Given the description of an element on the screen output the (x, y) to click on. 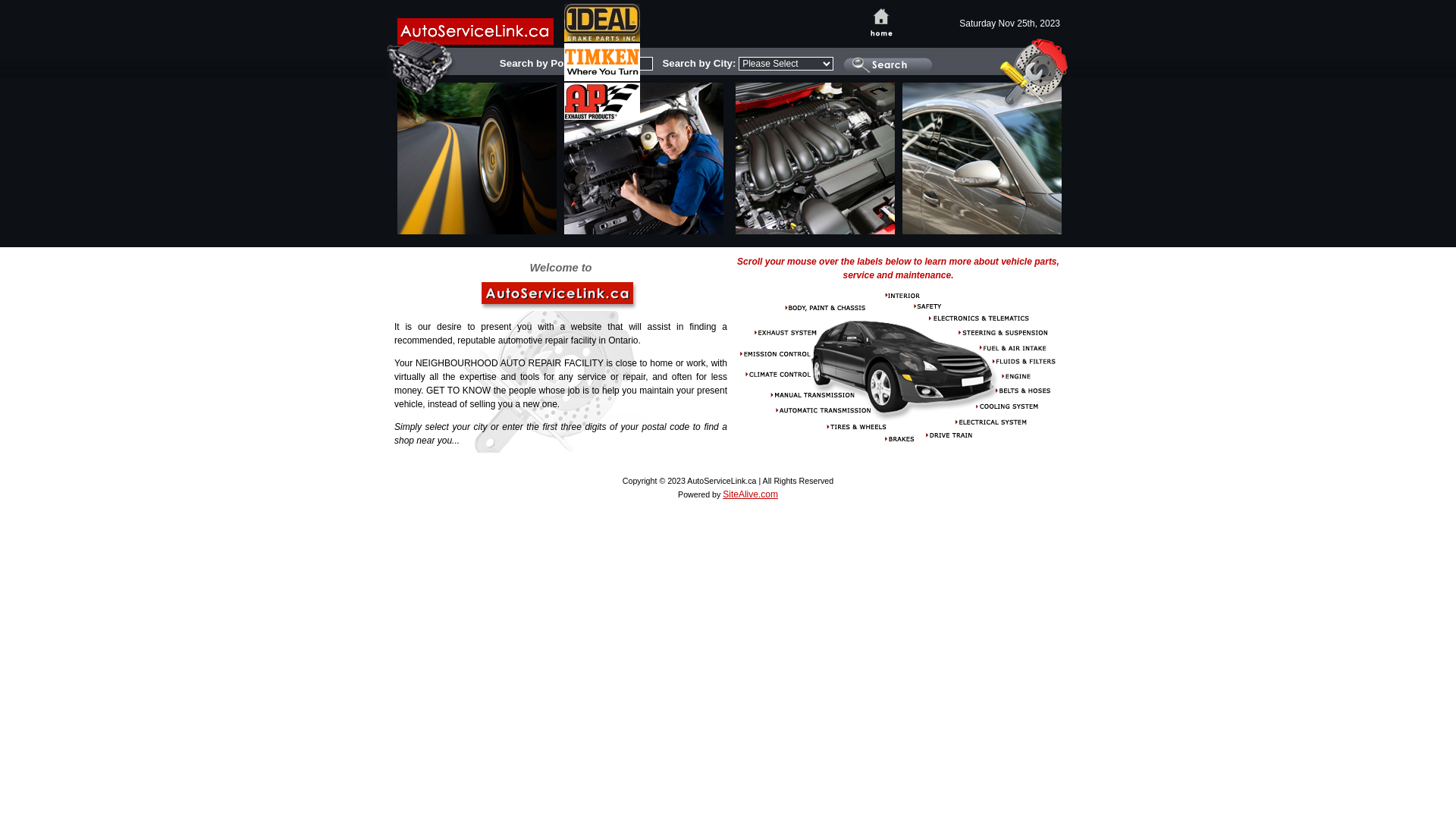
AP Exhaust Products Element type: hover (602, 112)
Timken Element type: hover (602, 74)
SiteAlive.com Element type: text (750, 494)
Ideal Brake Parts Inc. Element type: hover (602, 34)
